Given the description of an element on the screen output the (x, y) to click on. 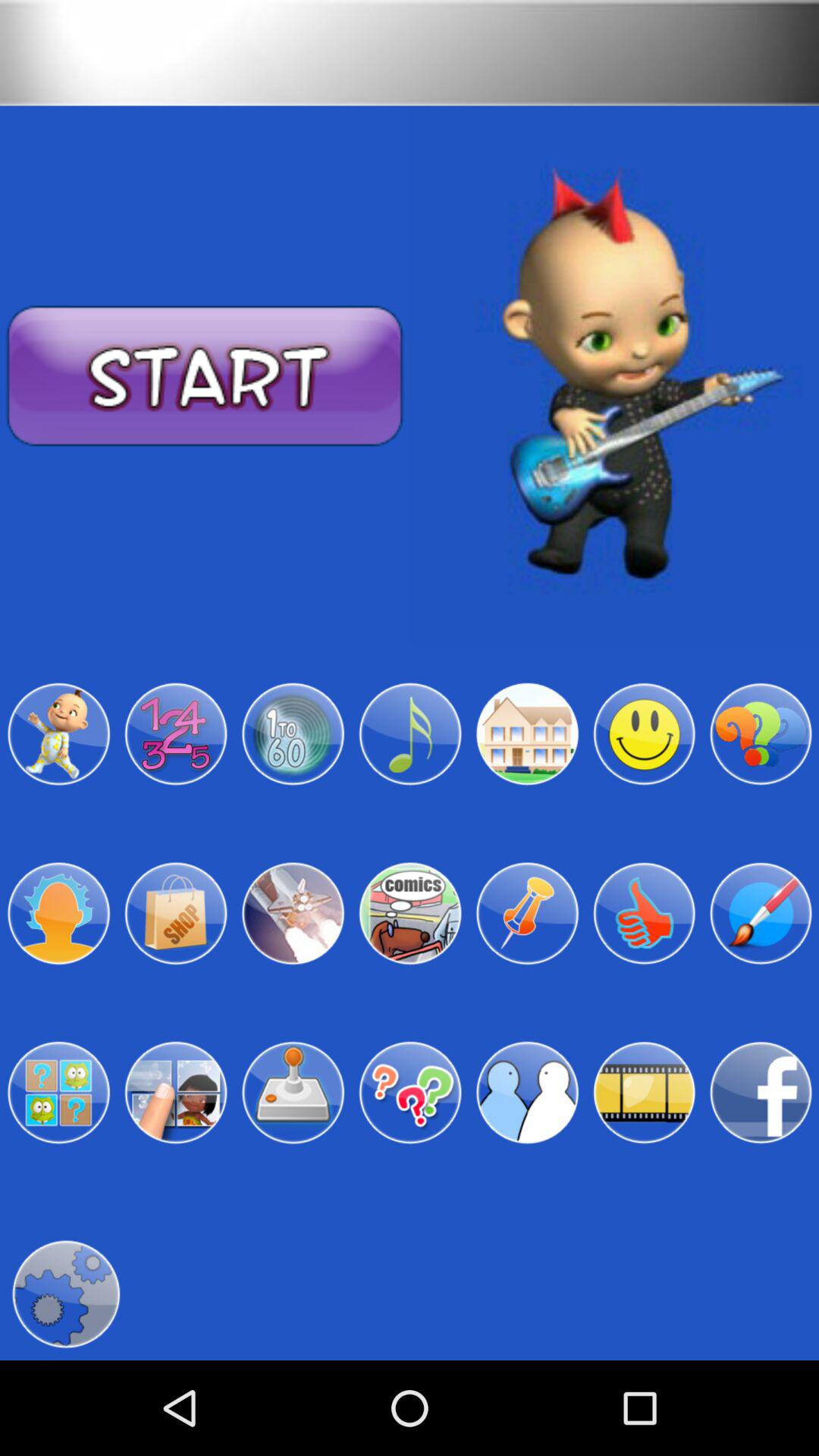
choose video mode (643, 1092)
